Given the description of an element on the screen output the (x, y) to click on. 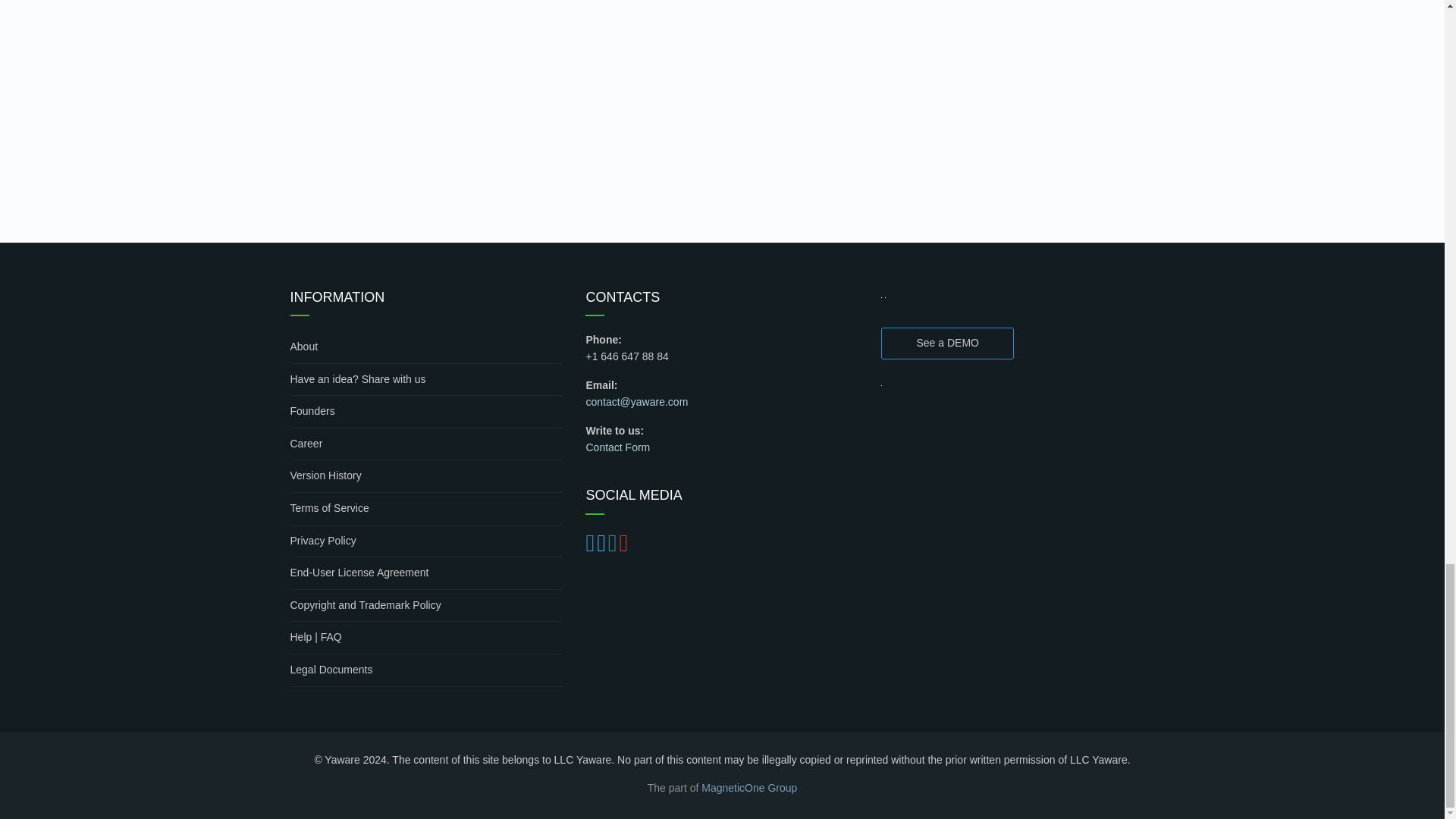
Please read terms of service (425, 509)
Please read privacy policy (425, 541)
MagneticOne Group (748, 787)
